Given the description of an element on the screen output the (x, y) to click on. 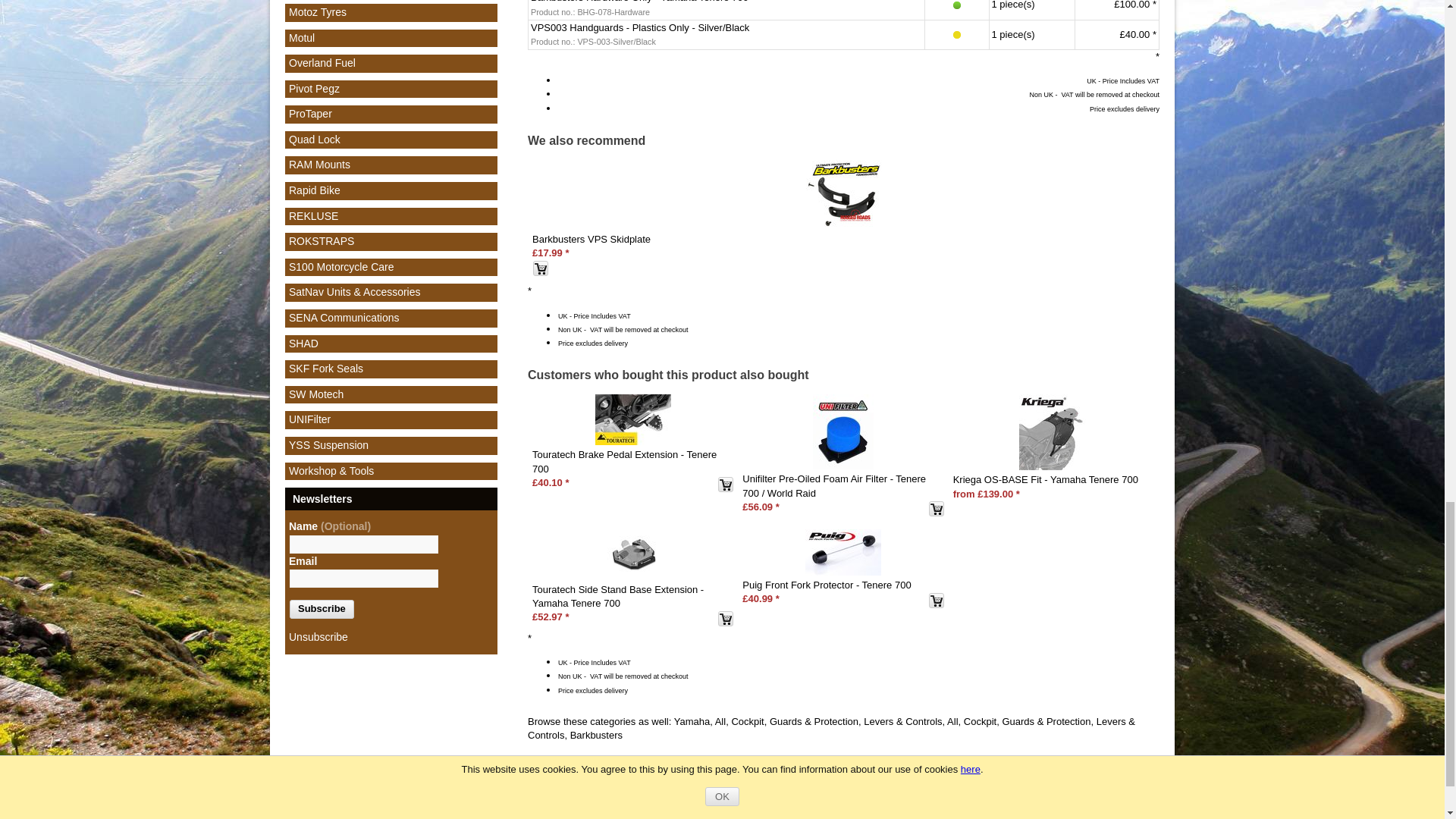
Add to basket (725, 484)
Go to product (842, 193)
Still in stock (956, 34)
Kriega OS-BASE Fit - Yamaha Tenere 700 (1054, 431)
Add to basket (540, 268)
Go to product (591, 238)
In stock (956, 5)
Touratech Brake Pedal Extension - Tenere 700 (633, 419)
Touratech Side Stand Base Extension - Yamaha Tenere 700 (633, 554)
Add to basket (935, 600)
Add to basket (725, 618)
Puig Front Fork Protector - Tenere 700 (842, 552)
Add to basket (935, 508)
